Given the description of an element on the screen output the (x, y) to click on. 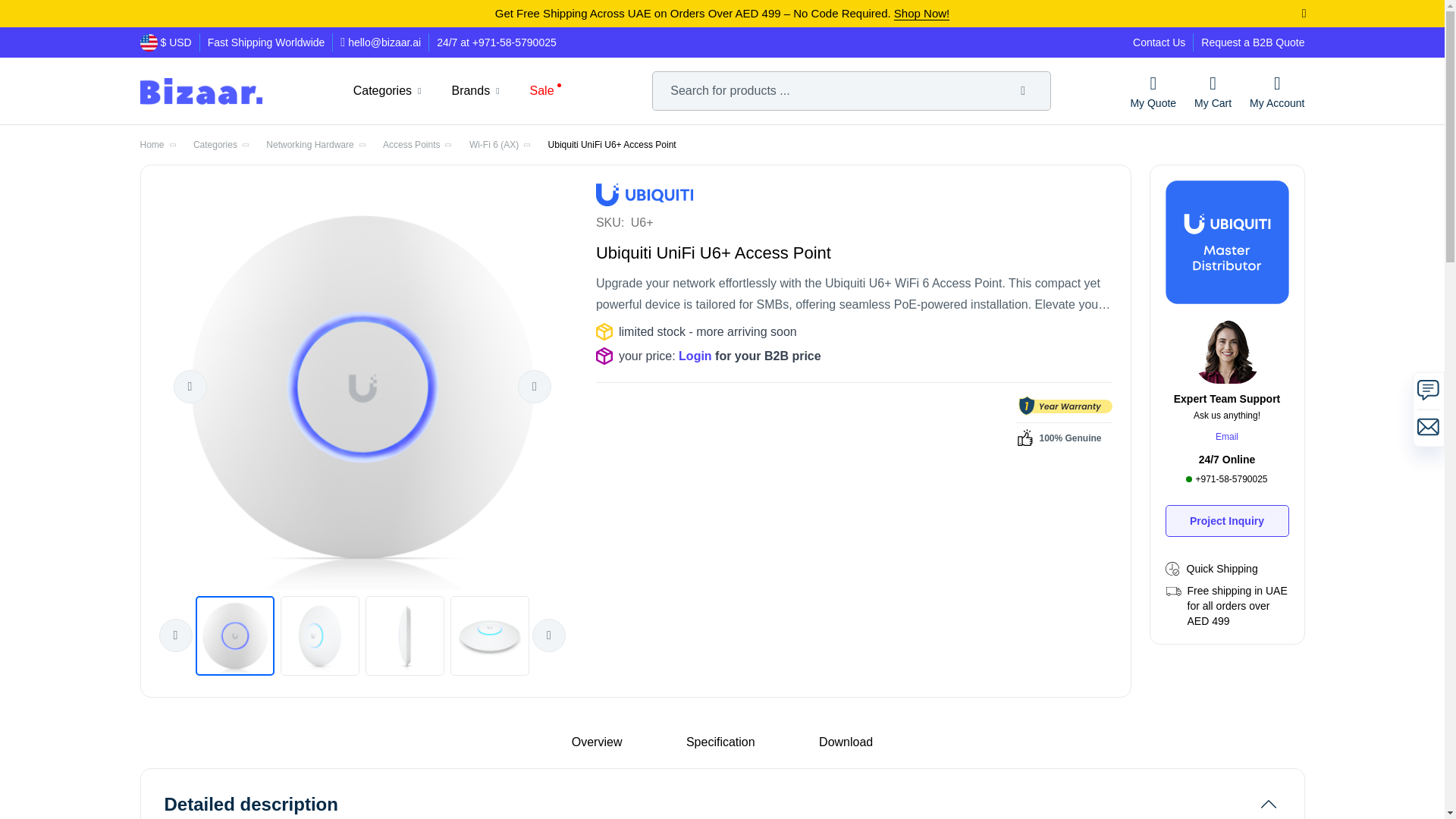
Categories (382, 90)
Shop Now! (921, 12)
Contact Us (1158, 42)
Categories (382, 90)
Request a B2B Quote (1252, 42)
